Given the description of an element on the screen output the (x, y) to click on. 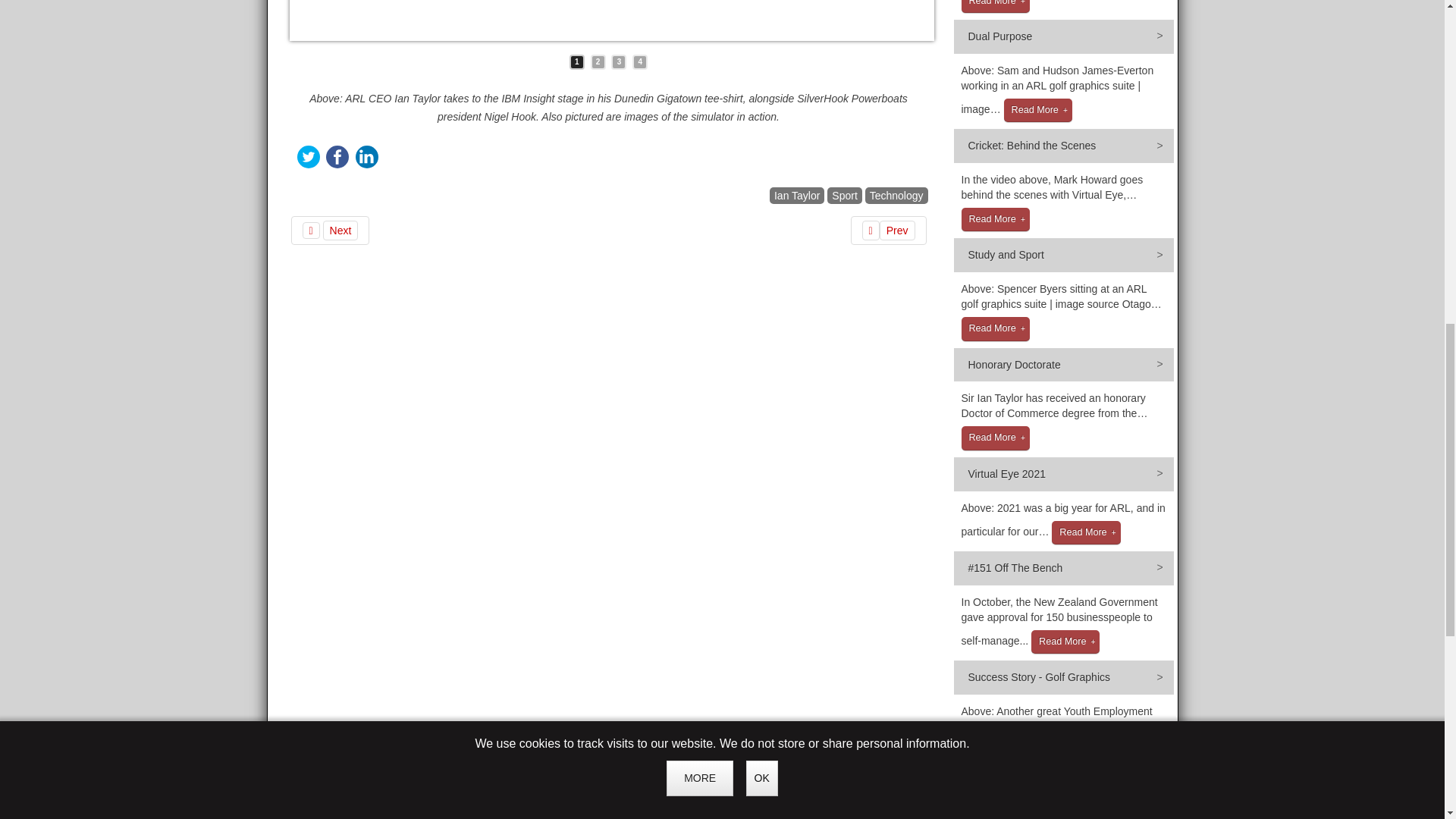
LinkedIn (366, 156)
FaceBook (337, 156)
Ian Taylor (797, 195)
Dunedin - Where Gigatown Belongs (888, 230)
Twitter (308, 156)
